Given the description of an element on the screen output the (x, y) to click on. 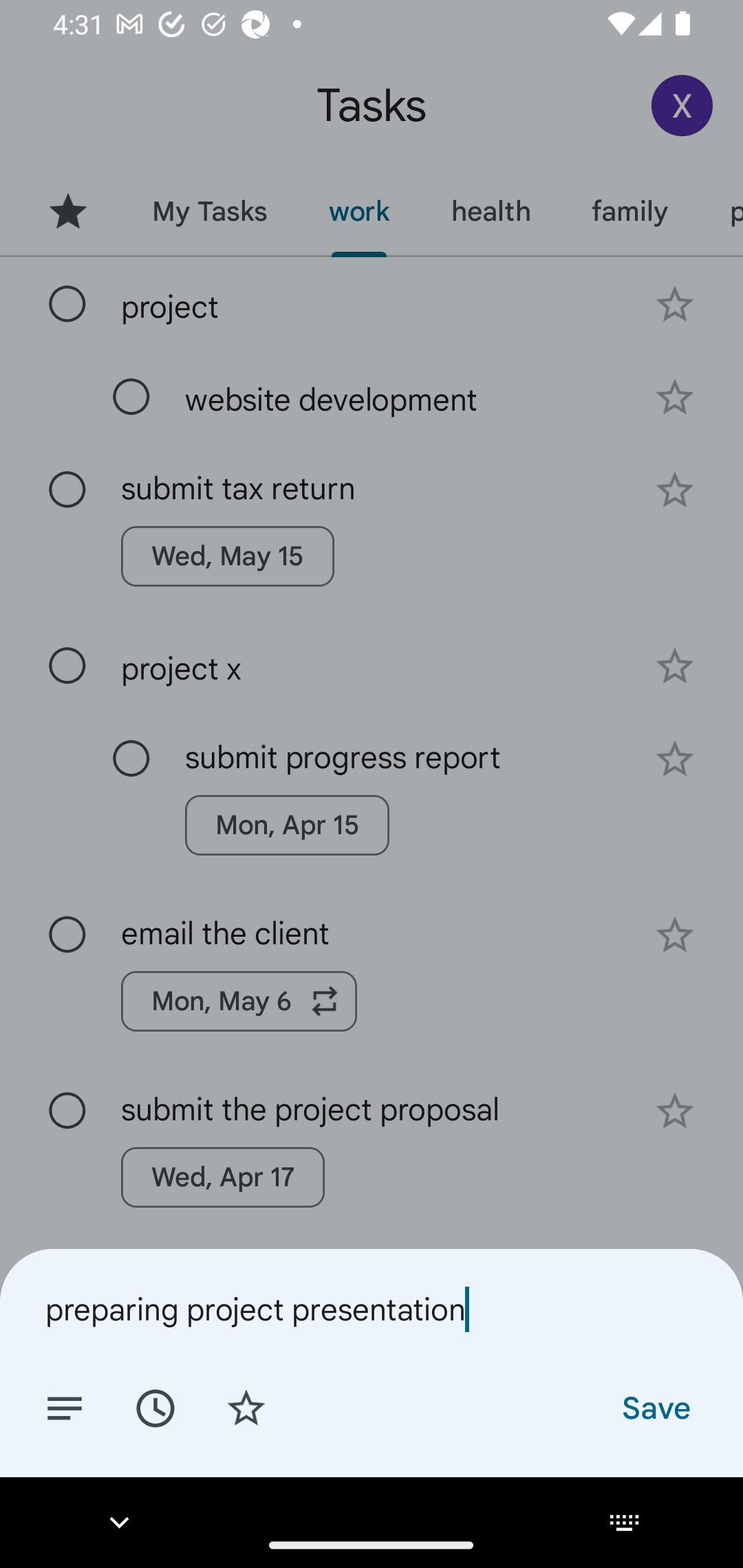
preparing project presentation (371, 1308)
Save (655, 1407)
Add details (64, 1407)
Set date/time (154, 1407)
Add star (245, 1407)
